Given the description of an element on the screen output the (x, y) to click on. 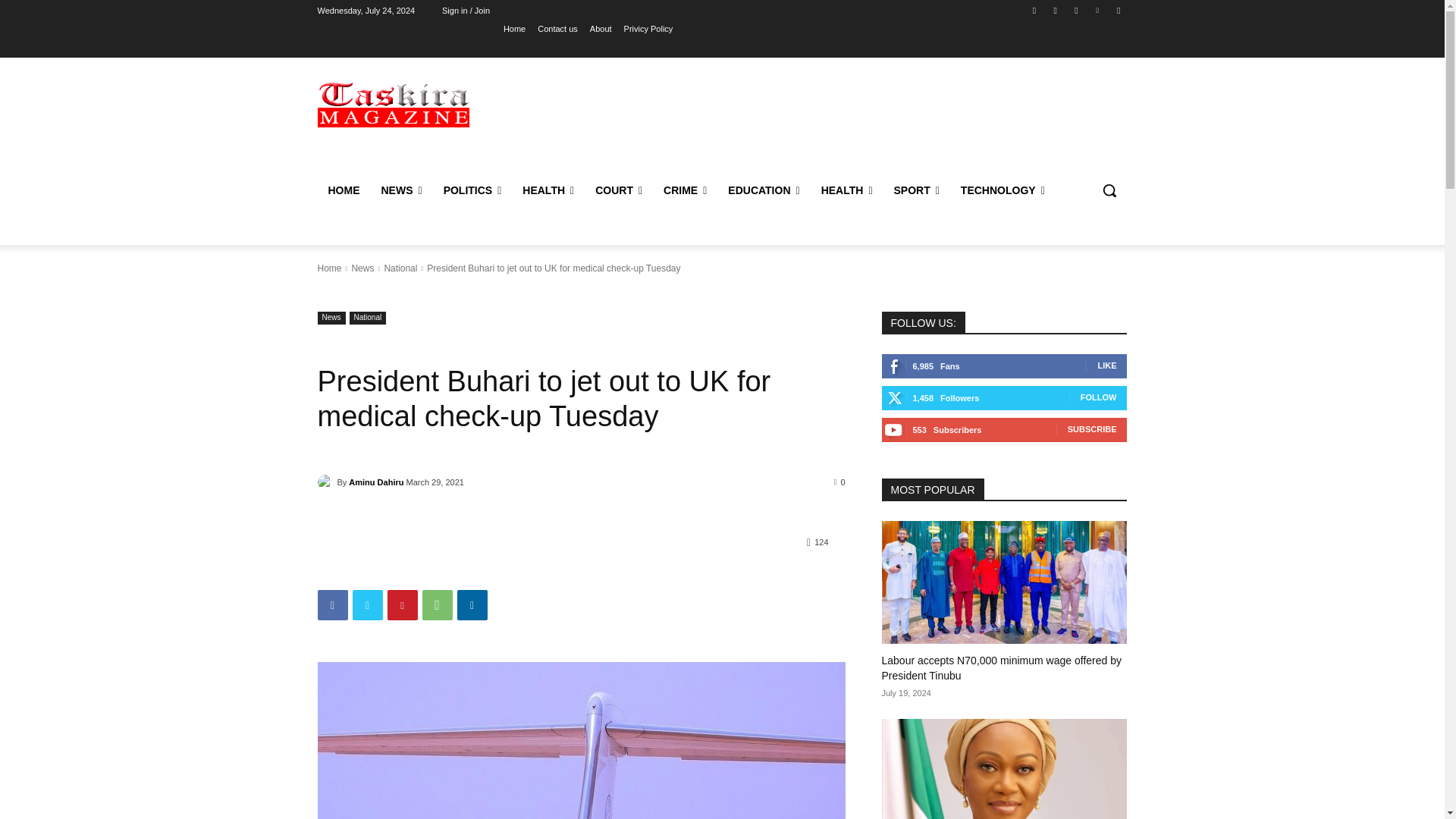
Facebook (1034, 9)
Instagram (1055, 9)
Contact us (557, 28)
Vimeo (1097, 9)
Taskira Online Magazine (425, 103)
Youtube (1117, 9)
Twitter (1075, 9)
HOME (343, 189)
Home (514, 28)
Privicy Policy (648, 28)
Taskira Online Magazine (392, 103)
About (600, 28)
NEWS (400, 189)
